Given the description of an element on the screen output the (x, y) to click on. 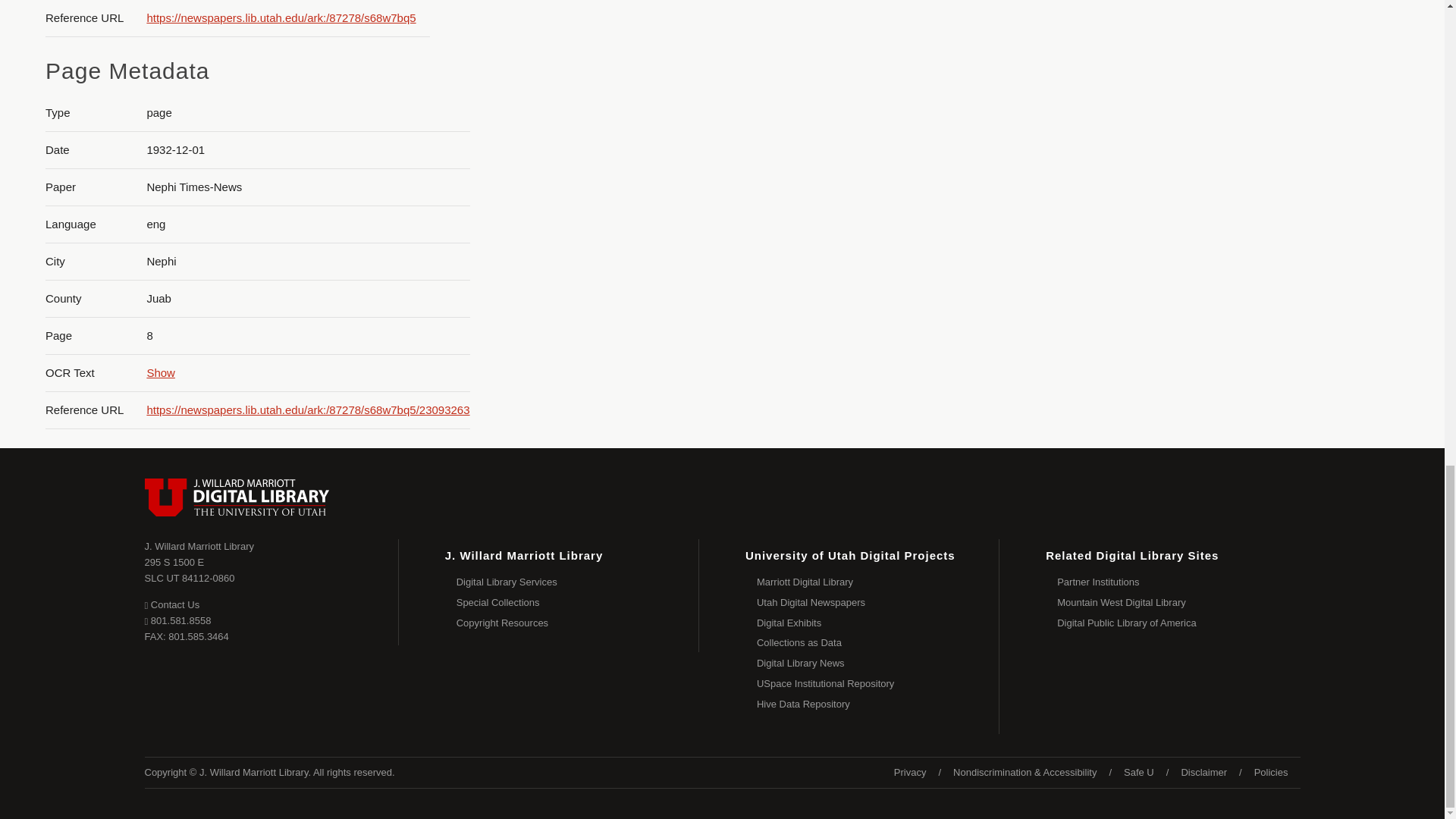
Show (160, 372)
Page 8 (1299, 26)
J. Willard Marriott Library (189, 569)
Special Collections (198, 546)
Contact Us (577, 602)
Digital Library Services (171, 604)
Copyright Resources (577, 582)
